Given the description of an element on the screen output the (x, y) to click on. 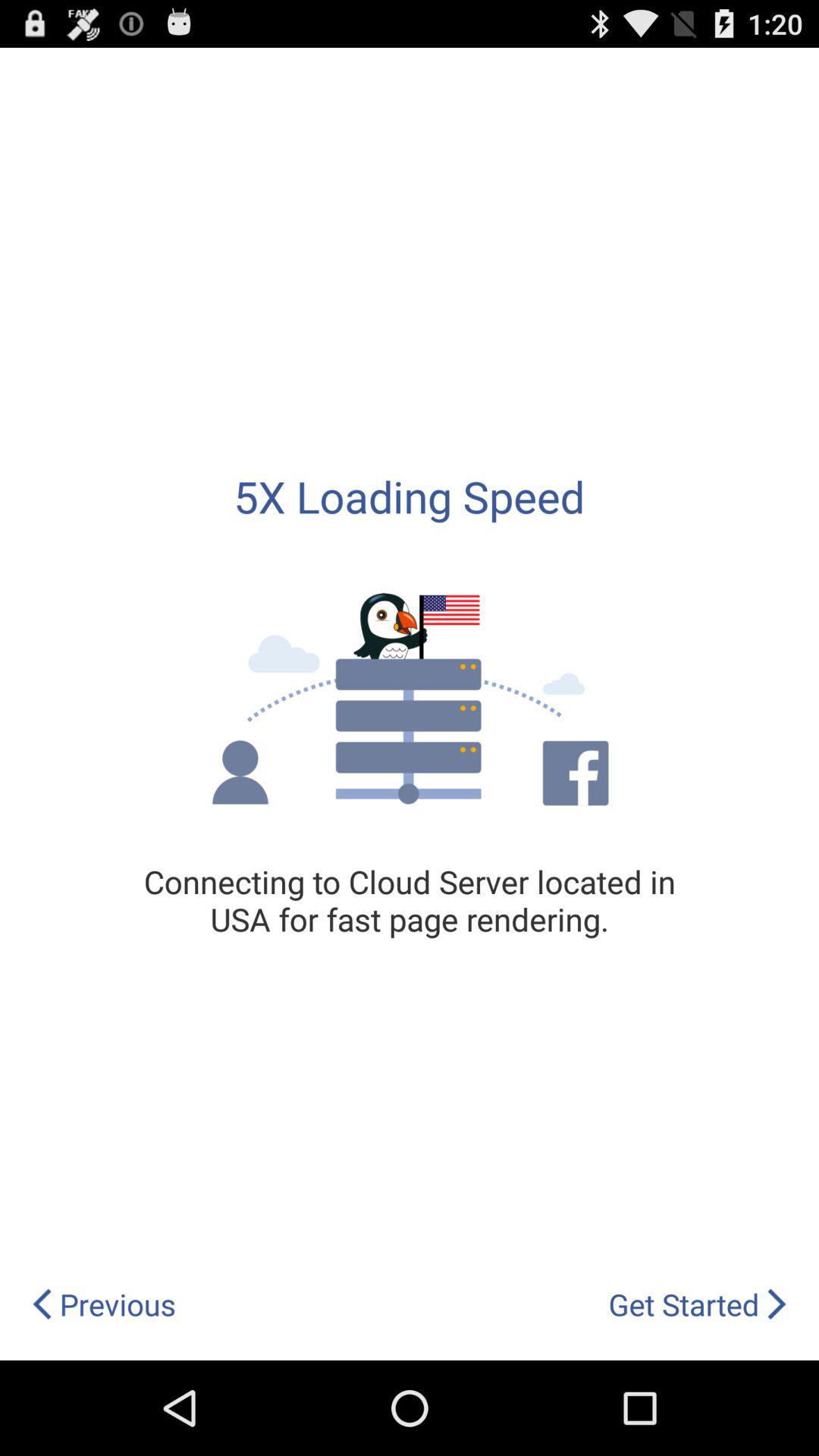
swipe to get started app (697, 1304)
